Given the description of an element on the screen output the (x, y) to click on. 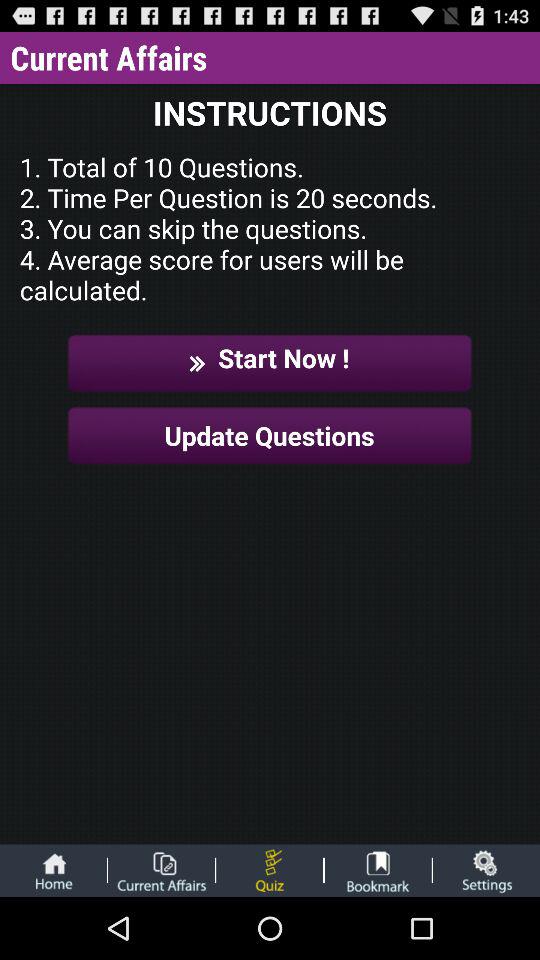
open the button below the update questions item (486, 870)
